Given the description of an element on the screen output the (x, y) to click on. 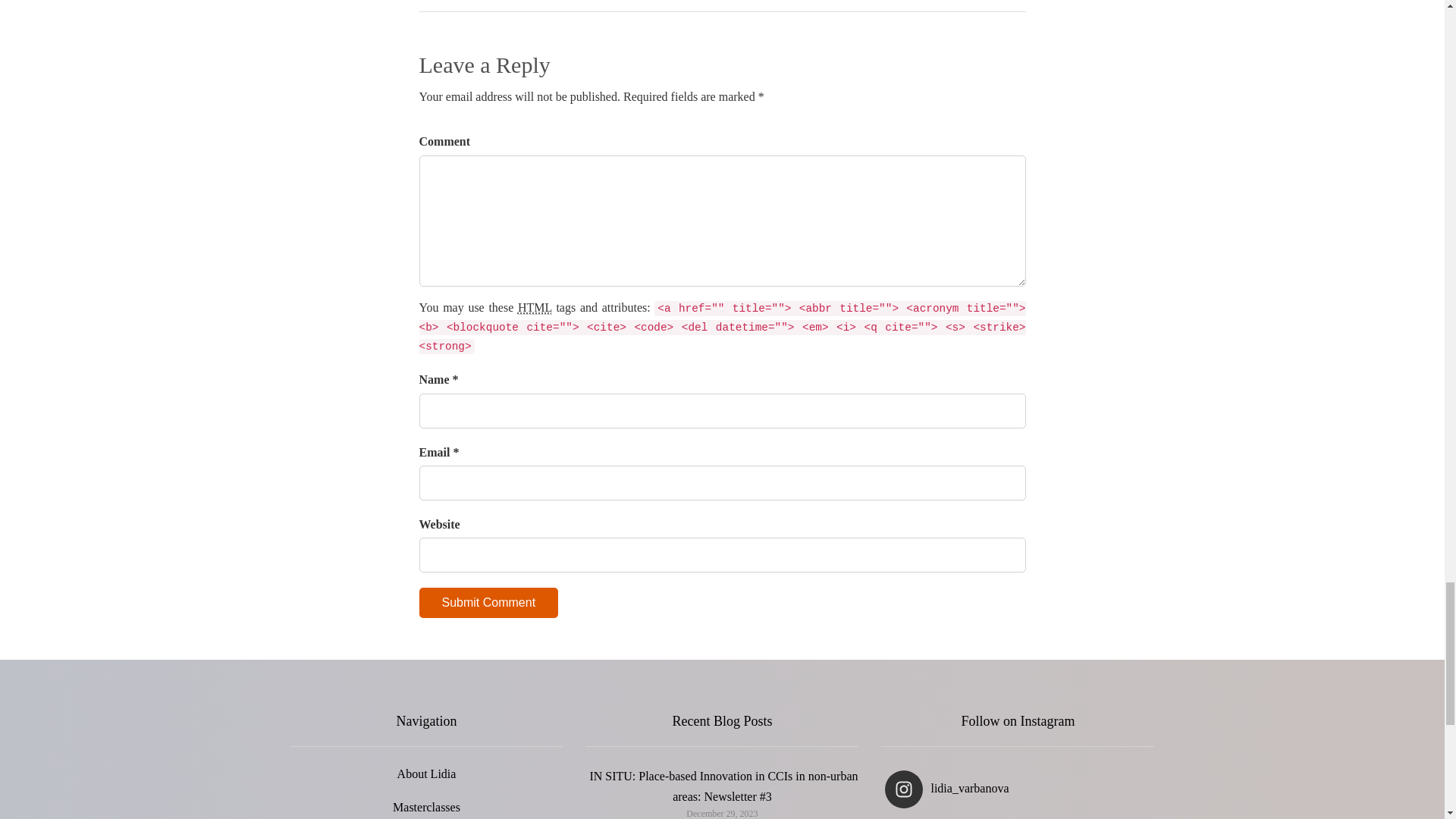
Submit Comment (488, 603)
HyperText Markup Language (534, 307)
